Given the description of an element on the screen output the (x, y) to click on. 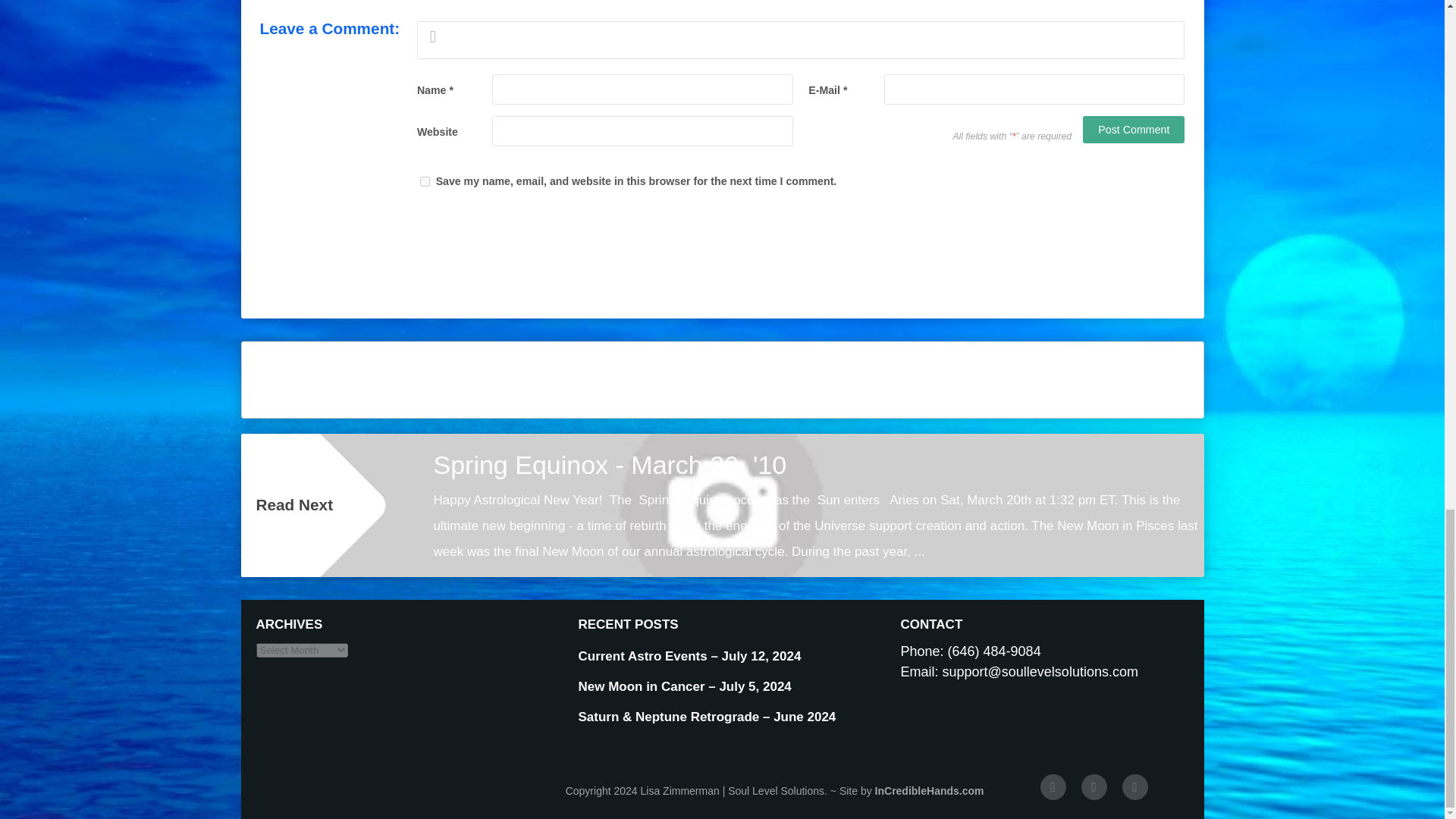
Post Comment (1134, 129)
Post Comment (1134, 129)
InCredibleHands.com (929, 790)
yes (424, 181)
